Given the description of an element on the screen output the (x, y) to click on. 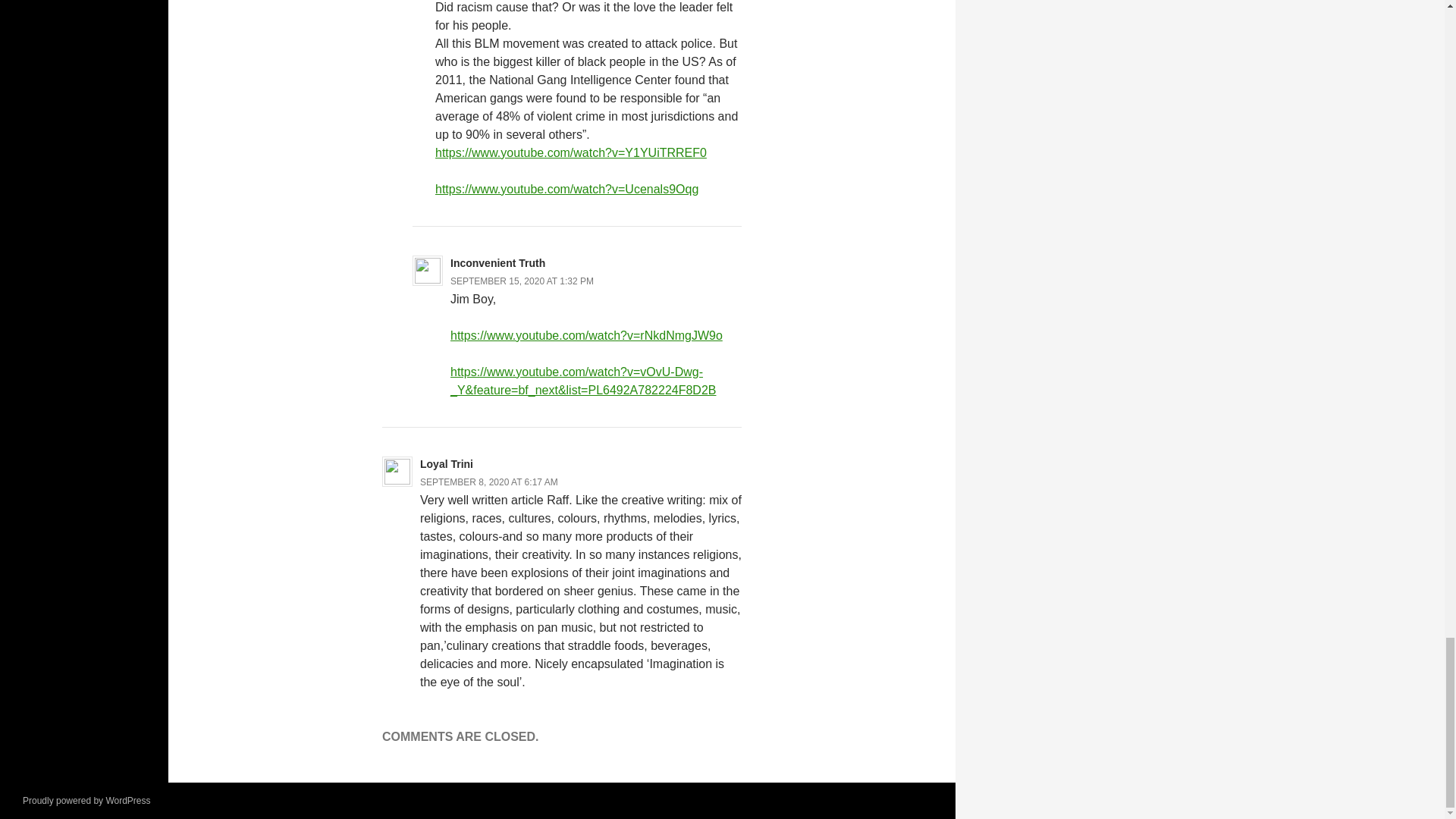
SEPTEMBER 15, 2020 AT 1:32 PM (521, 281)
SEPTEMBER 8, 2020 AT 6:17 AM (488, 481)
